Given the description of an element on the screen output the (x, y) to click on. 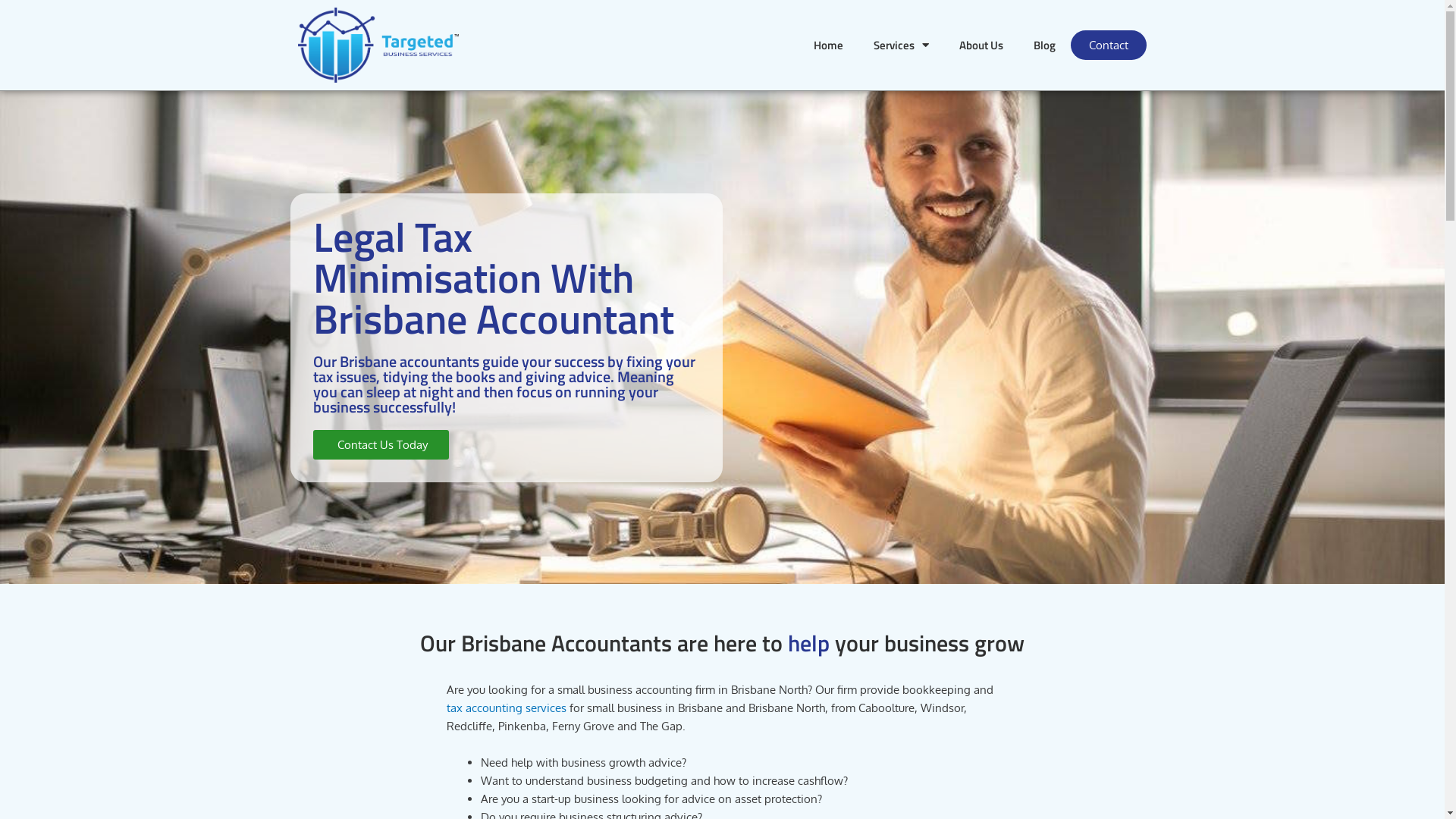
tax accounting services Element type: text (506, 707)
About Us Element type: text (981, 45)
Blog Element type: text (1044, 45)
Services Element type: text (901, 45)
Contact Element type: text (1108, 44)
targeted-logo-small Element type: hover (377, 44)
Home Element type: text (828, 45)
  Contact Us Today  Element type: text (380, 444)
